Given the description of an element on the screen output the (x, y) to click on. 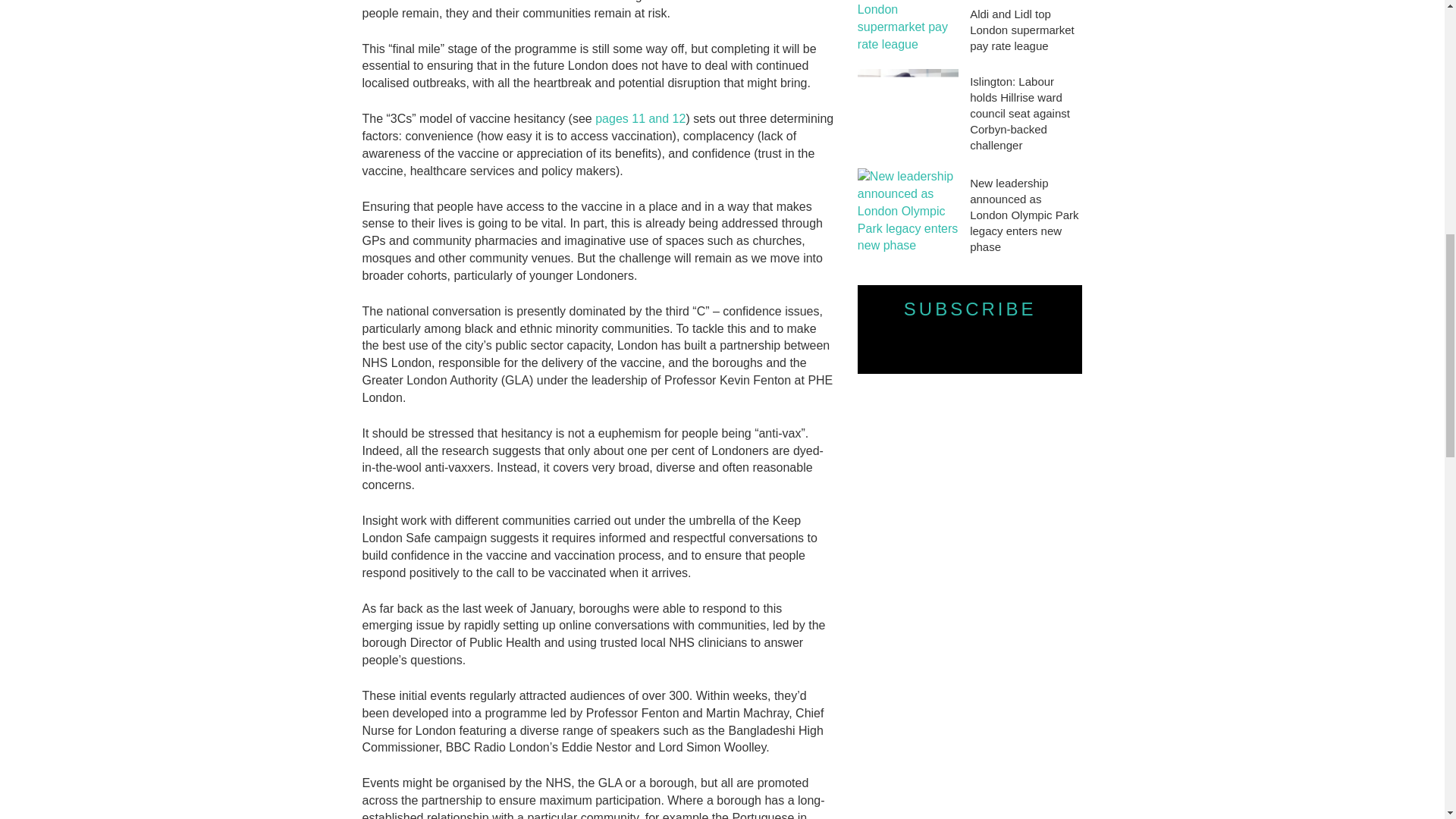
Aldi and Lidl top London supermarket pay rate league (907, 27)
Aldi and Lidl top London supermarket pay rate league (1025, 29)
pages 11 and 12 (640, 118)
